Given the description of an element on the screen output the (x, y) to click on. 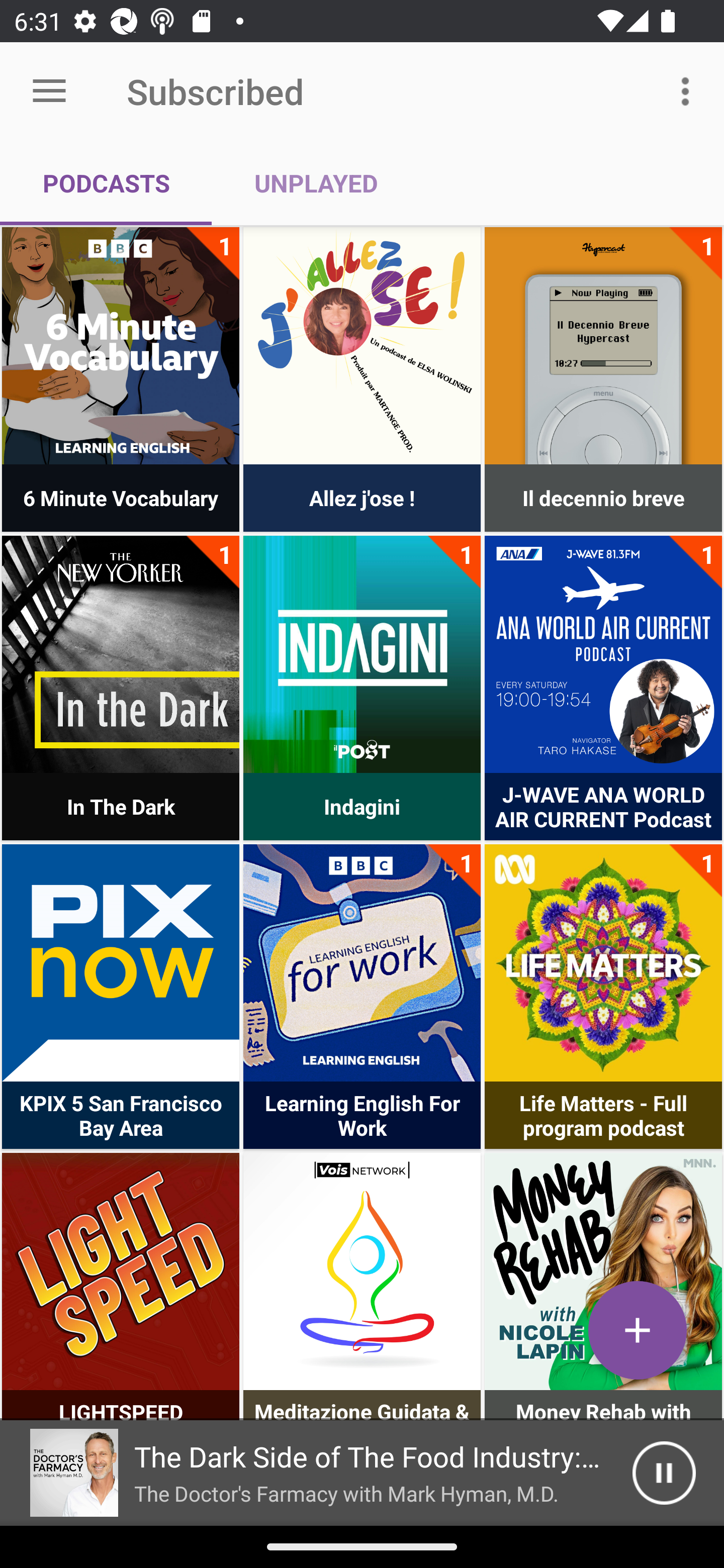
Open menu (49, 91)
More options (688, 90)
PODCASTS (105, 183)
UNPLAYED (315, 183)
6 Minute Vocabulary (120, 345)
Allez j'ose ! (361, 345)
Il decennio breve (602, 345)
In The Dark (120, 654)
Indagini (361, 654)
J-WAVE ANA WORLD AIR CURRENT Podcast (602, 654)
KPIX 5 San Francisco Bay Area (120, 962)
Learning English For Work (361, 962)
Life Matters - Full program podcast (602, 962)
Meditazione Guidata & Rilassamento (361, 1271)
Money Rehab with Nicole Lapin (602, 1271)
Pause (663, 1472)
